Given the description of an element on the screen output the (x, y) to click on. 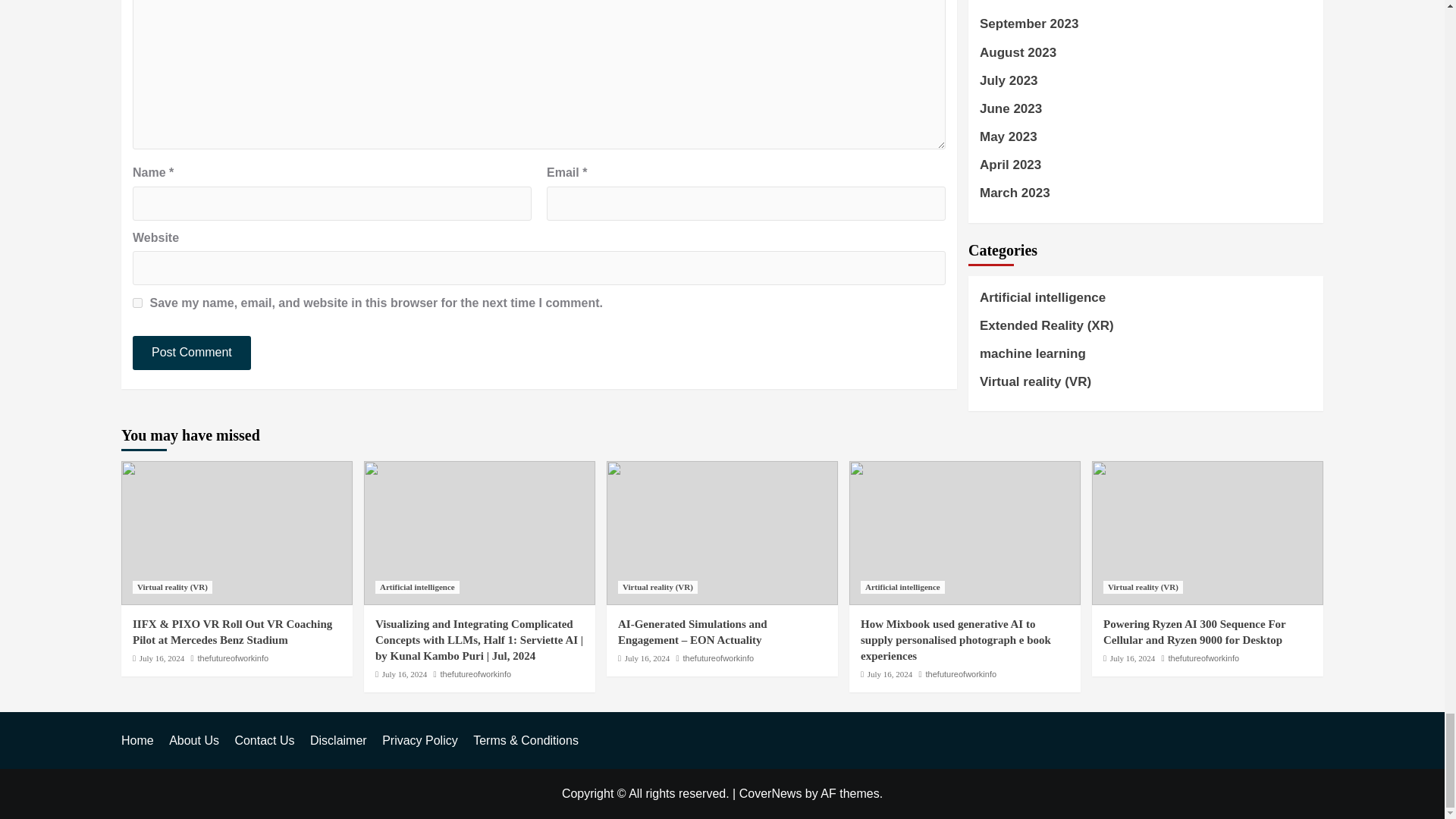
Post Comment (191, 352)
yes (137, 302)
